Given the description of an element on the screen output the (x, y) to click on. 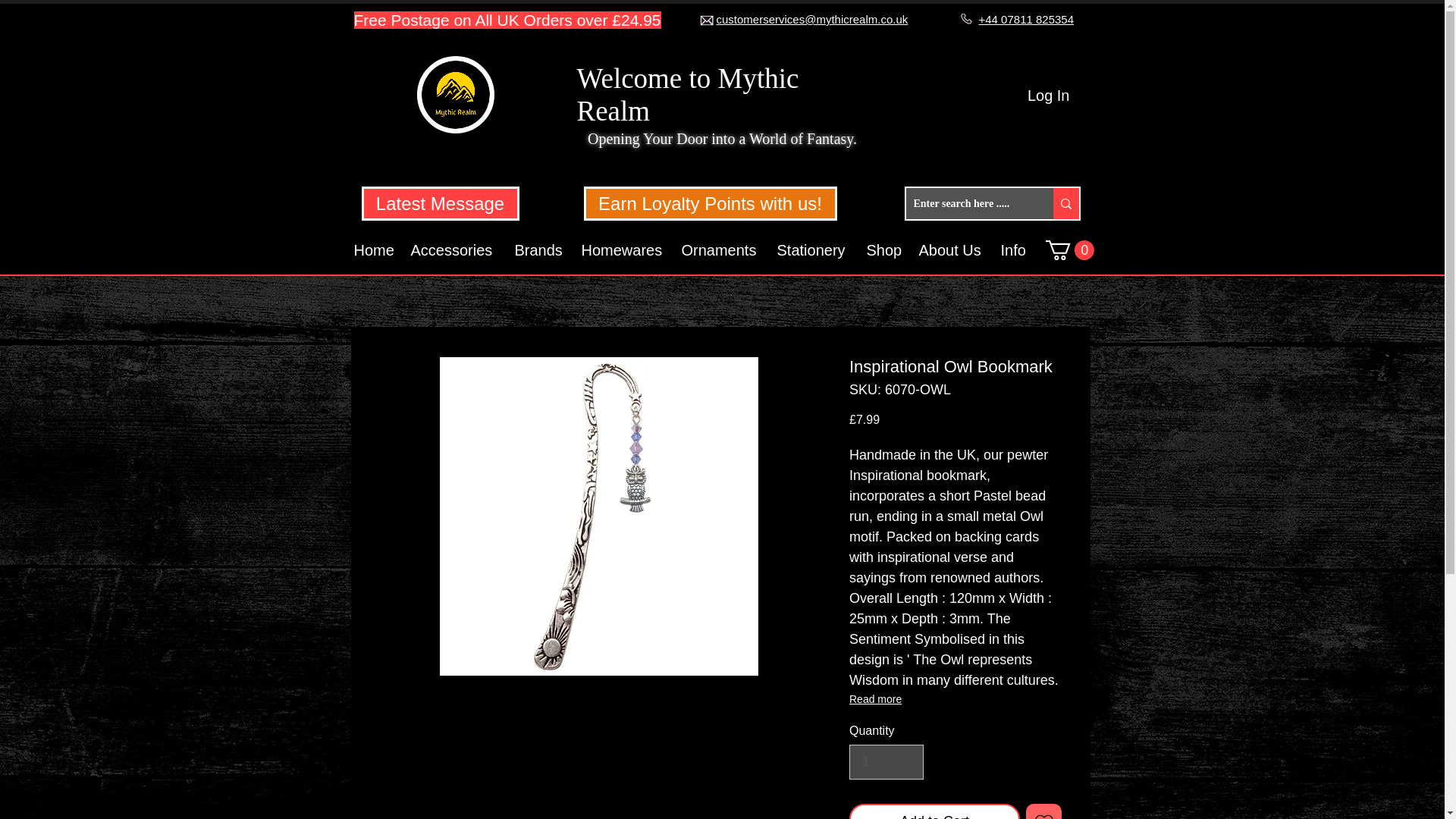
0 (1069, 250)
Latest Message (439, 203)
Ornaments (720, 250)
1 (885, 761)
Home (374, 250)
Log In (1048, 95)
Earn Loyalty Points with us! (710, 203)
